Given the description of an element on the screen output the (x, y) to click on. 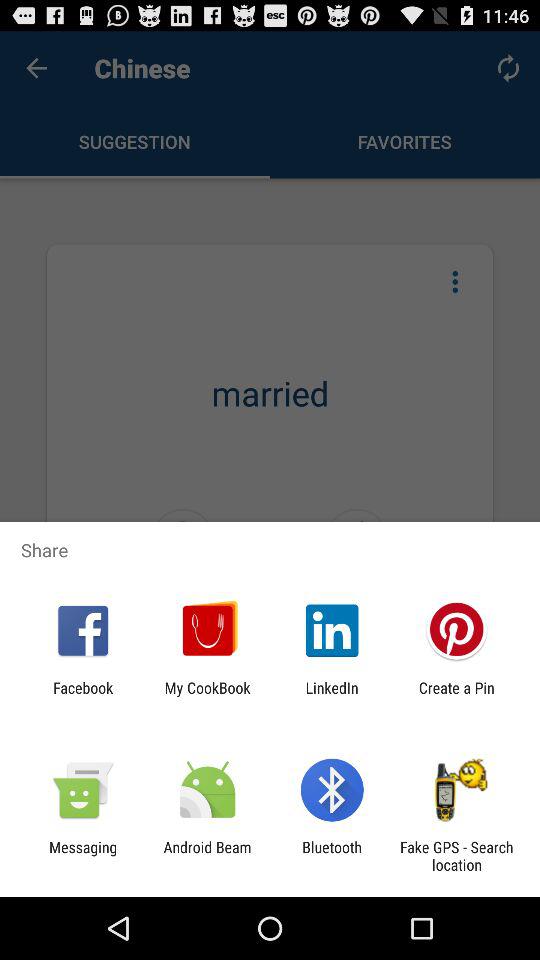
jump to the bluetooth icon (331, 856)
